Given the description of an element on the screen output the (x, y) to click on. 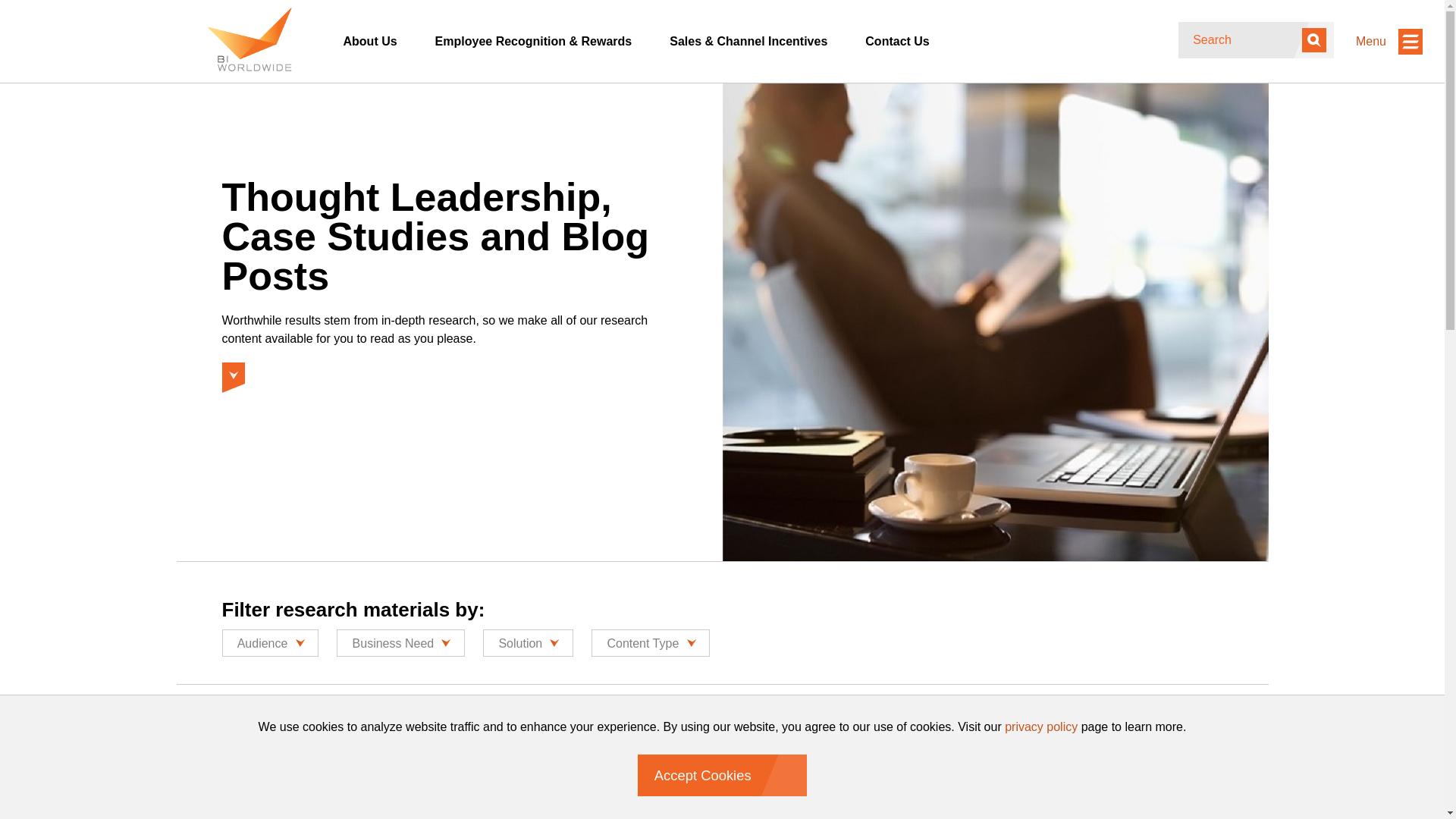
About Us Element type: text (369, 41)
Contact Us Element type: text (896, 41)
Accept Cookies Element type: text (721, 775)
privacy policy Element type: text (1040, 726)
Customer Loyalty Element type: text (304, 763)
Employee Recognition & Rewards Element type: text (533, 41)
Search Element type: text (1314, 40)
BI WORLDWIDE Element type: text (248, 38)
Menu Element type: text (1388, 41)
Clear all filters Element type: text (463, 763)
Sales & Channel Incentives Element type: text (748, 41)
Skip to Content Element type: text (175, 81)
Scroll Down Element type: text (232, 372)
